Given the description of an element on the screen output the (x, y) to click on. 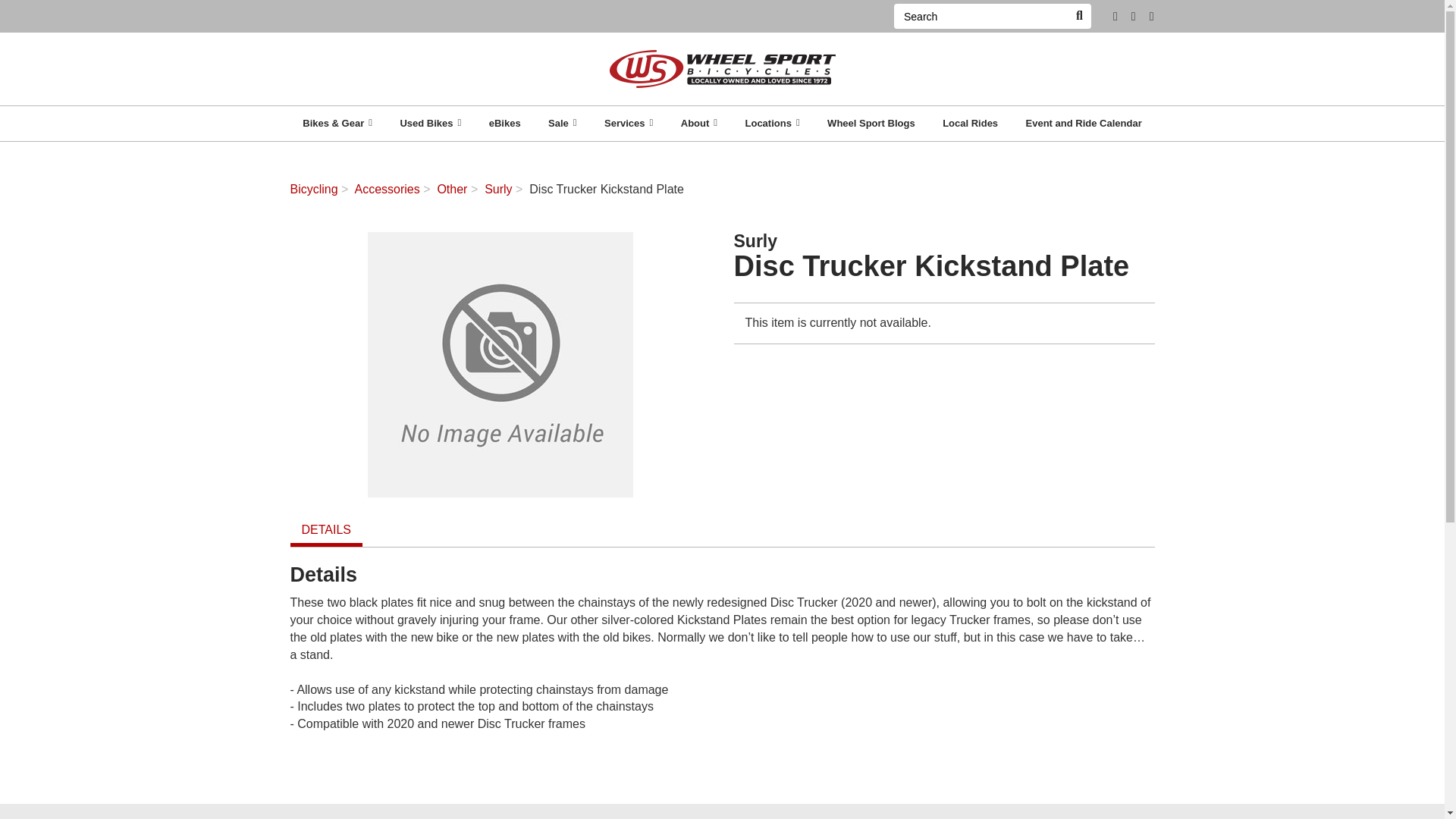
Wheel Sport Bicycles Home Page (721, 67)
Search (980, 16)
Search (1078, 16)
